Given the description of an element on the screen output the (x, y) to click on. 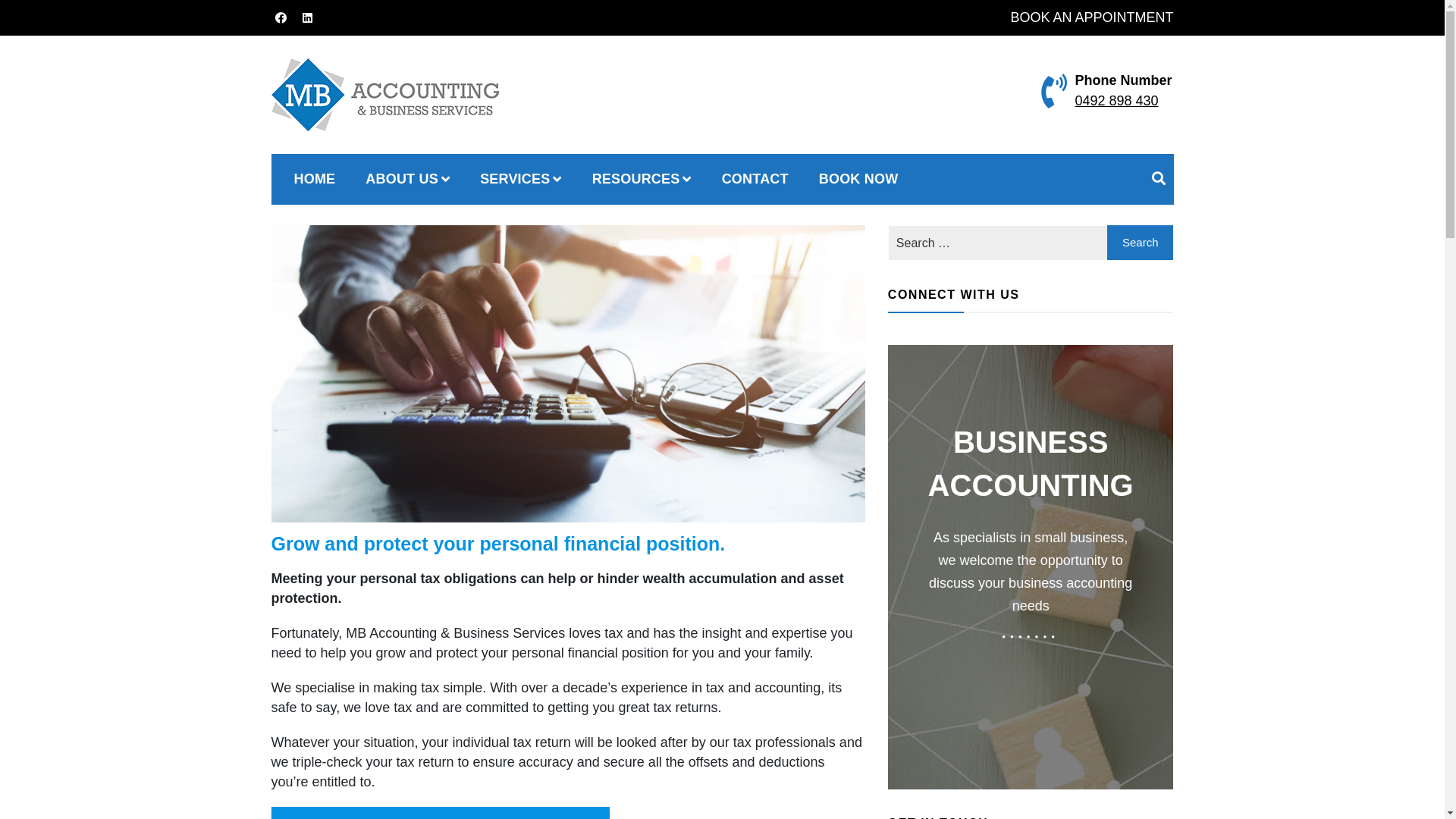
BOOK NOW Element type: text (858, 179)
ABOUT US Element type: text (407, 179)
Search Element type: text (1140, 242)
SERVICES Element type: text (520, 179)
Search Element type: text (879, 380)
RESOURCES Element type: text (641, 179)
CONTACT Element type: text (754, 179)
HOME Element type: text (315, 179)
0492 898 430 Element type: text (1115, 100)
BOOK AN APPOINTMENT Element type: text (1091, 17)
